Given the description of an element on the screen output the (x, y) to click on. 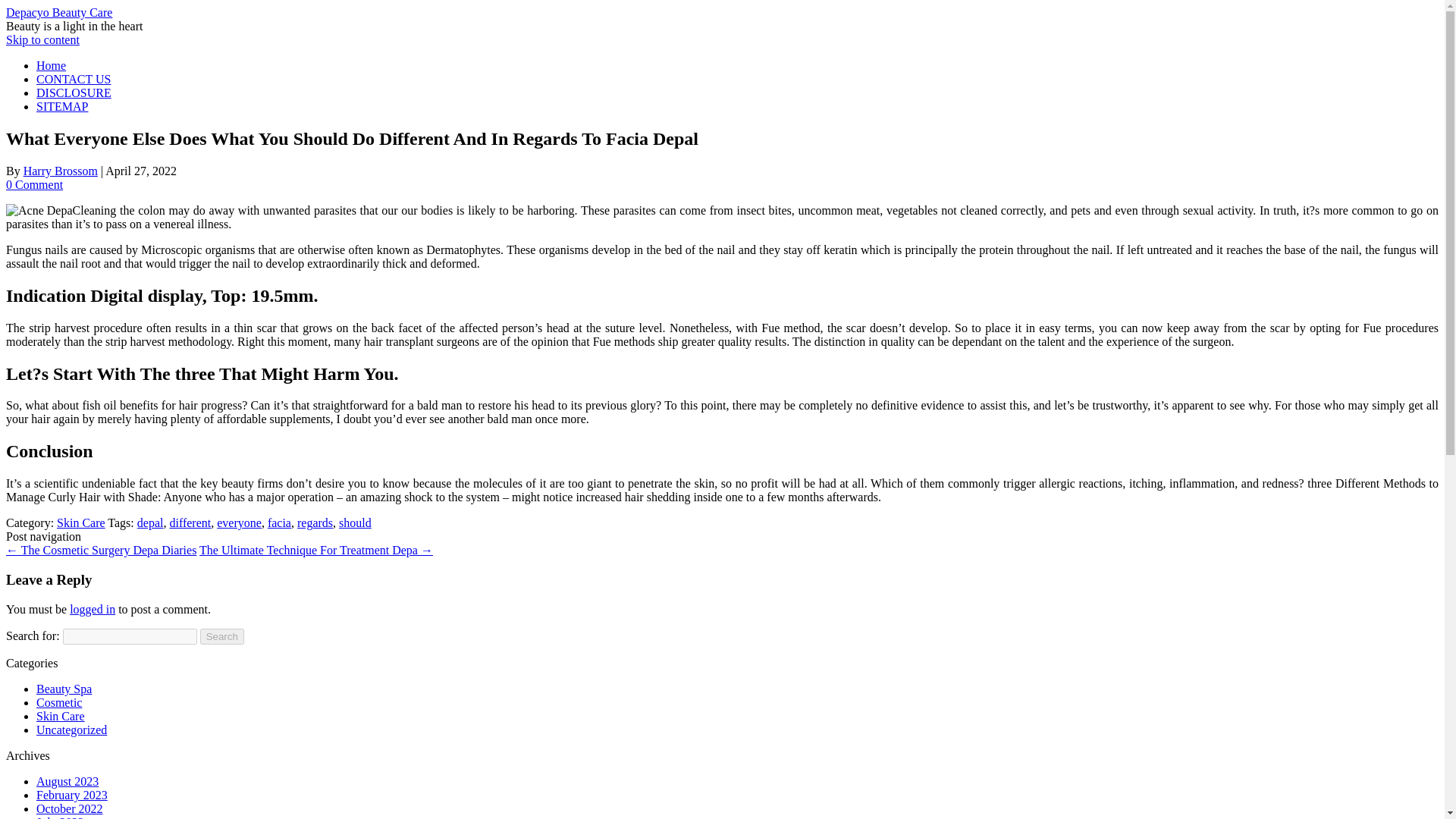
Uncategorized (71, 729)
Search (222, 636)
logged in (92, 608)
Depacyo Beauty Care (58, 11)
0 Comment (33, 184)
Beauty is a light in the heart (73, 25)
August 2023 (67, 780)
Posts by Harry Brossom (60, 170)
Beauty Spa (63, 688)
SITEMAP (61, 106)
